Given the description of an element on the screen output the (x, y) to click on. 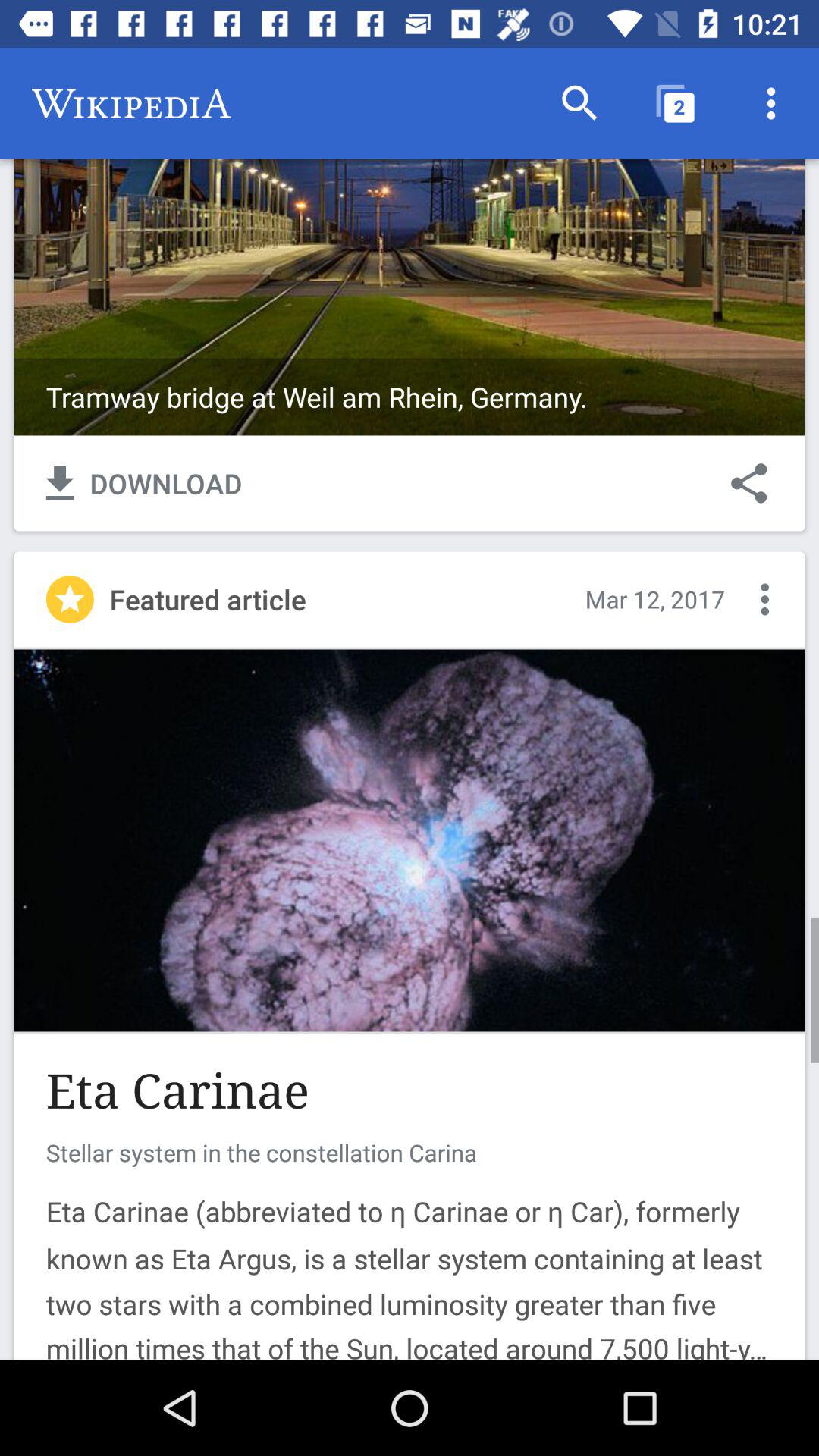
check history or bookmarks (764, 599)
